Given the description of an element on the screen output the (x, y) to click on. 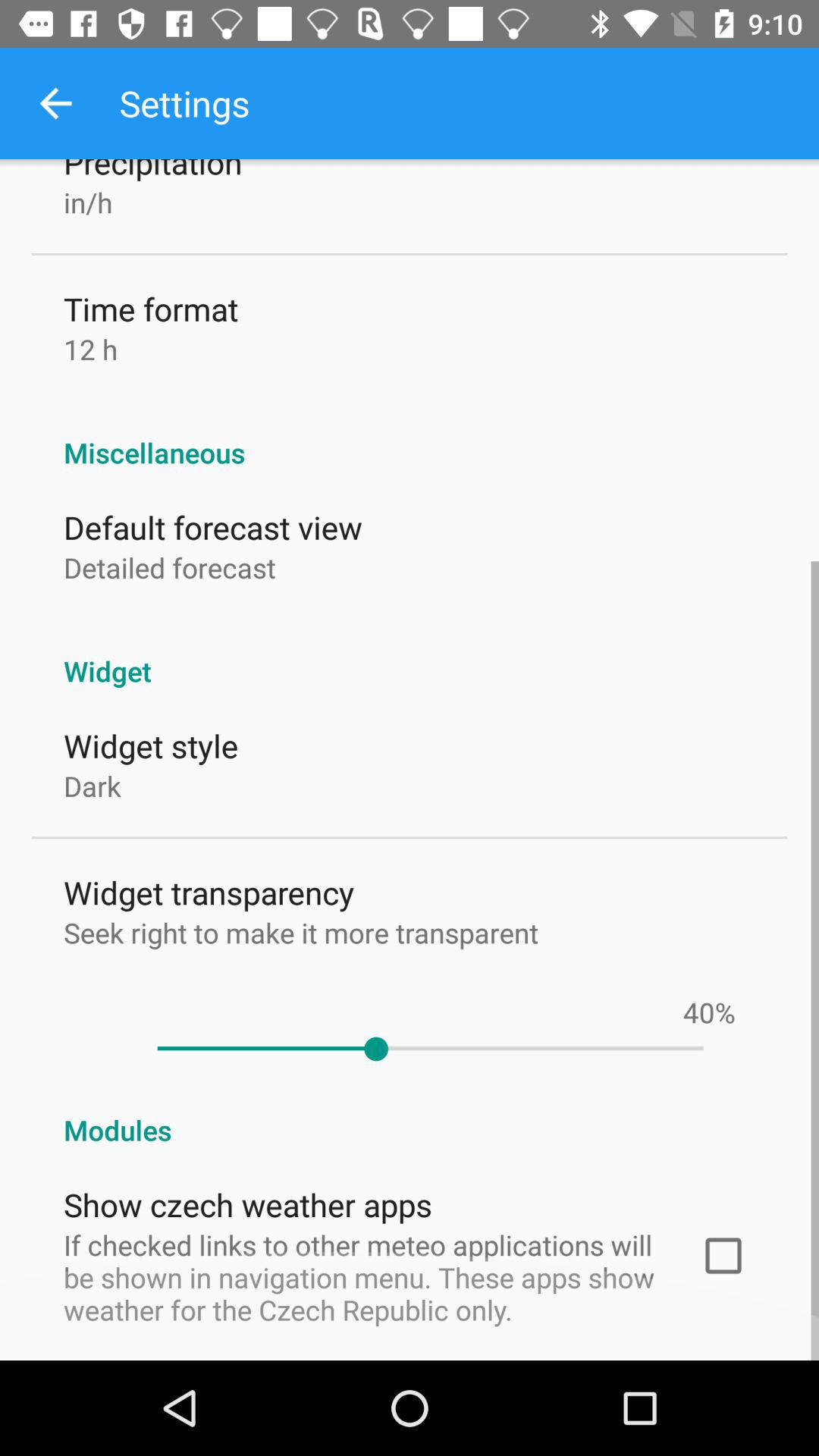
click the icon below dark item (208, 891)
